Given the description of an element on the screen output the (x, y) to click on. 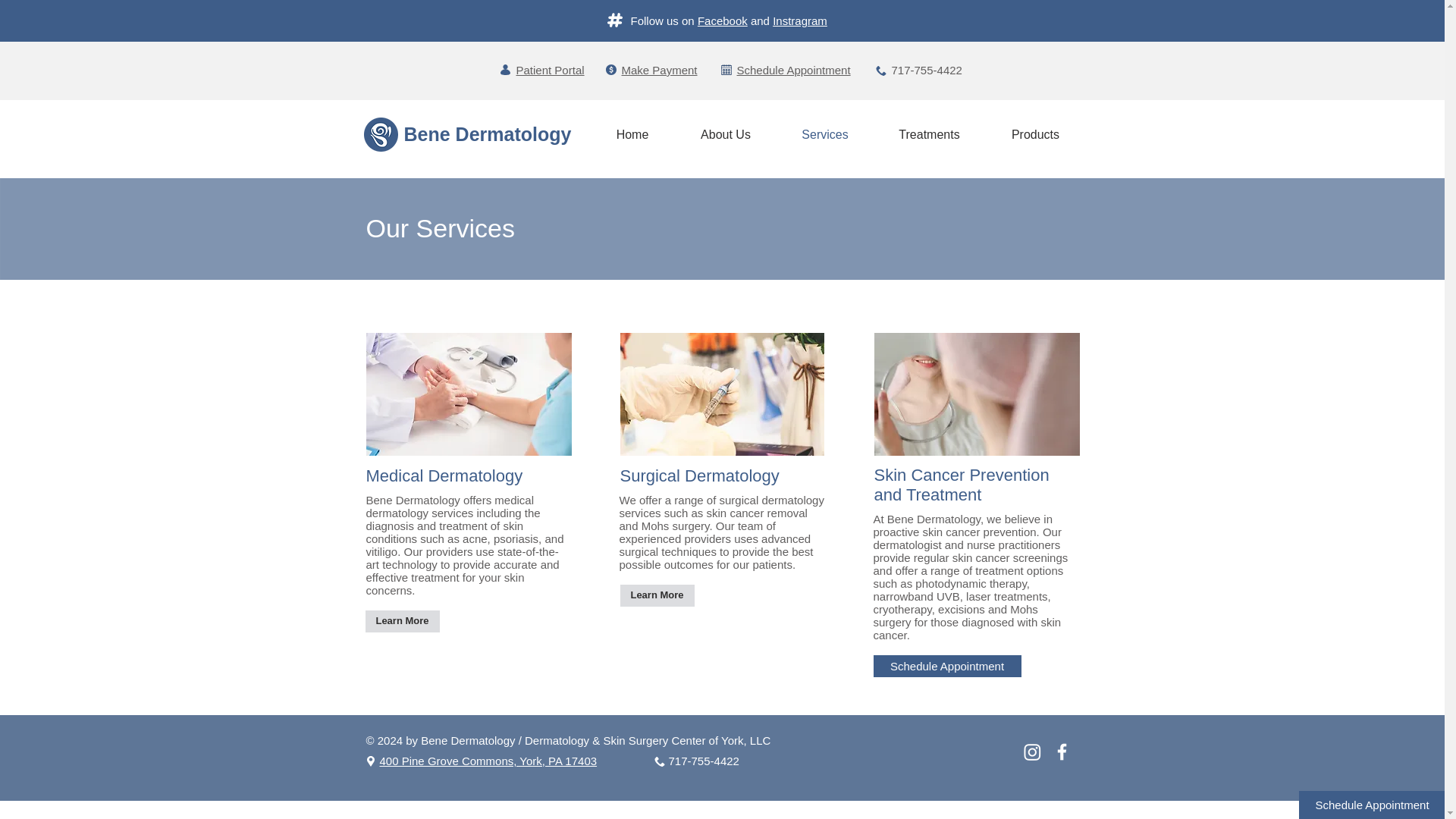
717-755-4422 (703, 760)
Facebook (722, 20)
Bene Dermatology (486, 133)
About Us (726, 134)
Schedule Appointment (793, 69)
Instragram (800, 20)
Patient Portal (549, 69)
Learn More (402, 621)
Treatments (929, 134)
Learn More (657, 595)
Home (631, 134)
Products (1035, 134)
Schedule Appointment (947, 666)
400 Pine Grove Commons, York, PA 17403 (487, 760)
Make Payment (659, 69)
